Given the description of an element on the screen output the (x, y) to click on. 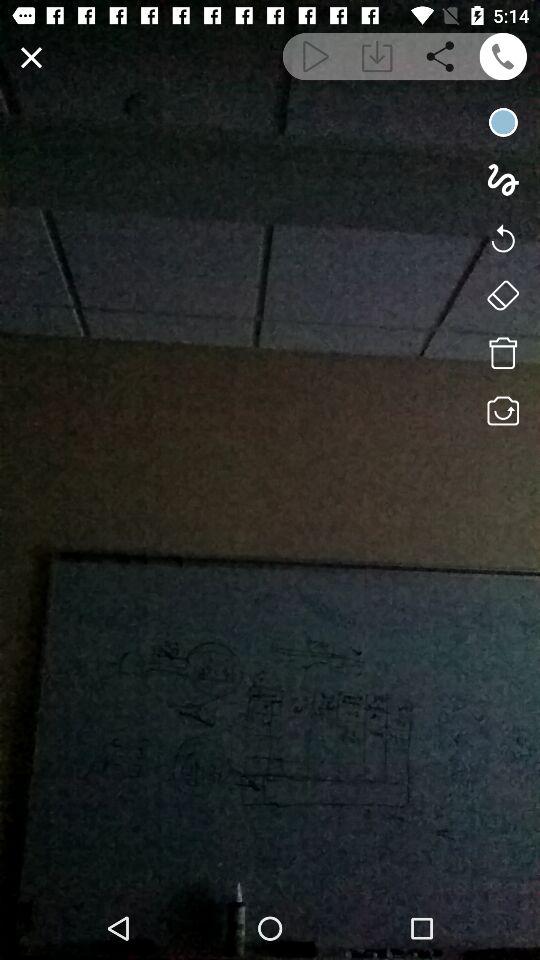
free high-quality video voice and group calling app for everyone simple reliable secure and fun (502, 56)
